Given the description of an element on the screen output the (x, y) to click on. 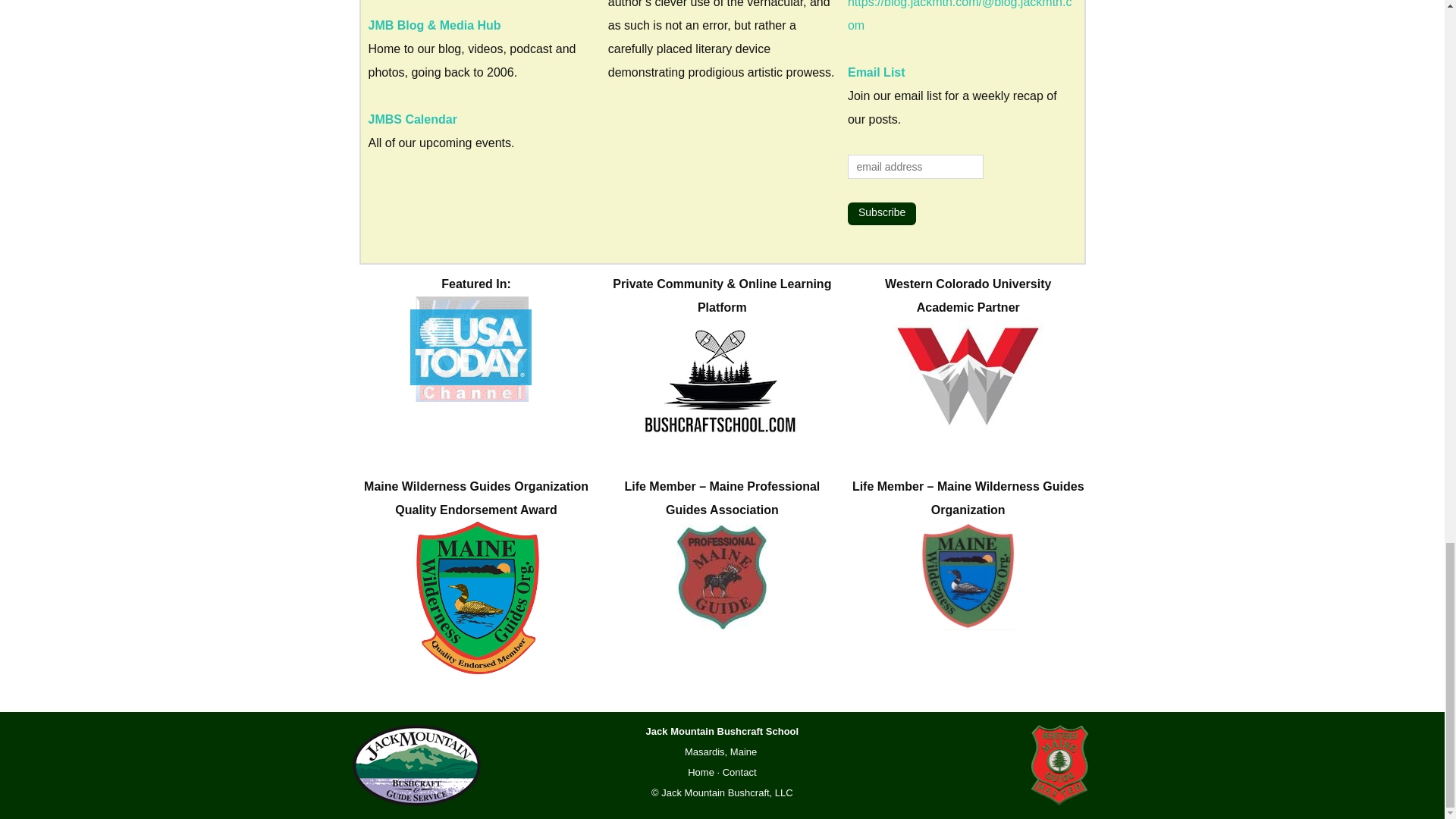
MWGO (475, 600)
WSU (967, 374)
BushcraftSchool.com (722, 377)
Maine Professional Guides Association - Life Member (722, 576)
Maine Wilderness Guides Organization - Life Member (967, 575)
Subscribe (881, 213)
